Given the description of an element on the screen output the (x, y) to click on. 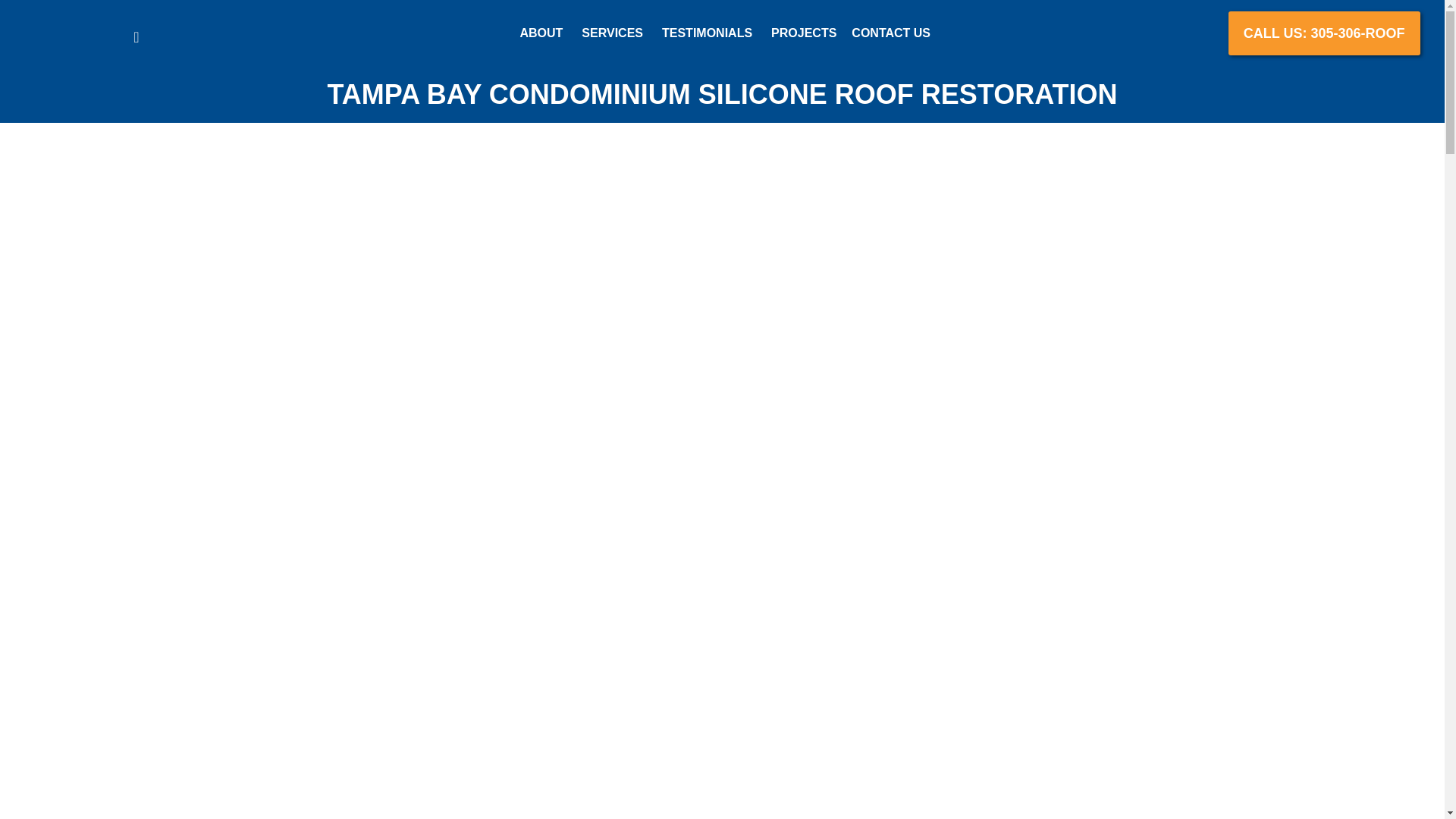
SERVICES (612, 32)
TESTIMONIALS (706, 32)
PROJECTS (803, 32)
ABOUT (540, 32)
CONTACT US (890, 32)
CALL US: 305-306-ROOF (1324, 33)
